Given the description of an element on the screen output the (x, y) to click on. 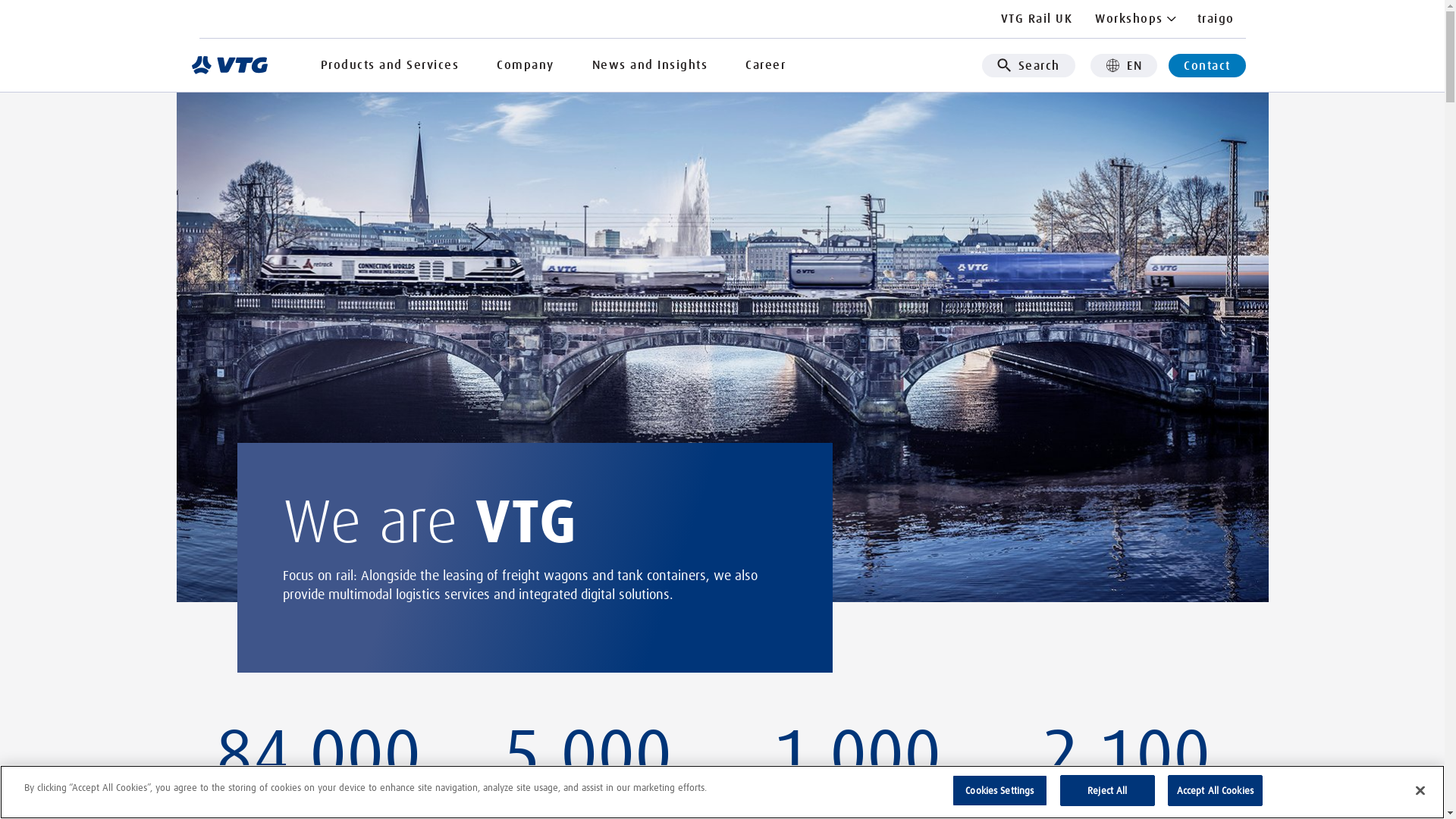
Products and Services Element type: text (389, 64)
EN Element type: text (1123, 64)
Career Element type: text (765, 64)
Accept All Cookies Element type: text (1214, 790)
VTG Rail UK Element type: text (1035, 18)
Workshops Element type: text (1134, 18)
Company Element type: text (525, 64)
Cookies Settings Element type: text (999, 790)
Reject All Element type: text (1107, 790)
Contact Element type: text (1206, 64)
traigo Element type: text (1215, 18)
Search Element type: text (1027, 64)
News and Insights Element type: text (650, 64)
